Given the description of an element on the screen output the (x, y) to click on. 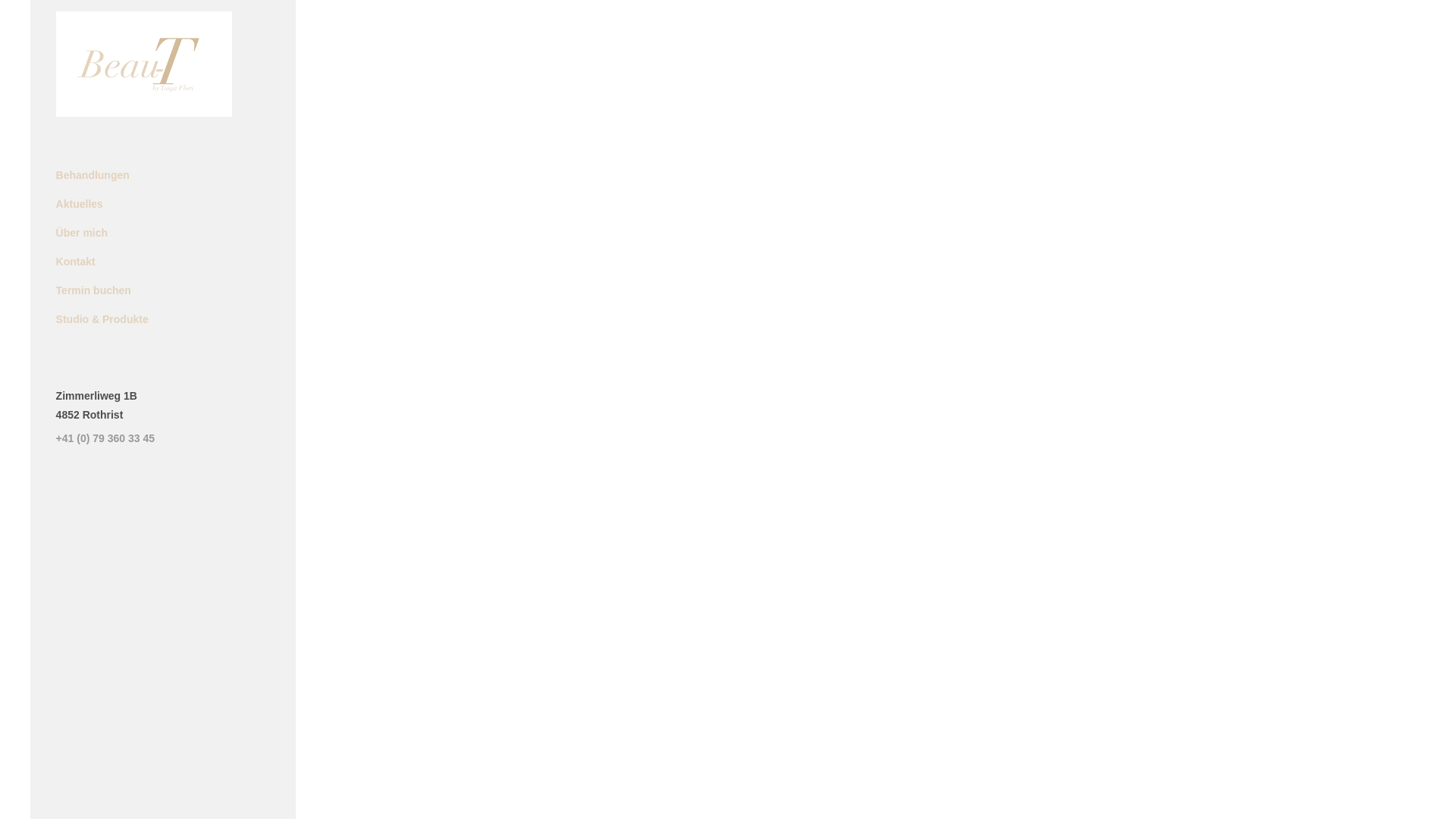
Kontakt Element type: text (163, 261)
Behandlungen Element type: text (163, 174)
+41 (0) 79 360 33 45 Element type: text (105, 438)
Termin buchen Element type: text (163, 290)
Studio & Produkte Element type: text (163, 318)
Aktuelles Element type: text (163, 203)
